Given the description of an element on the screen output the (x, y) to click on. 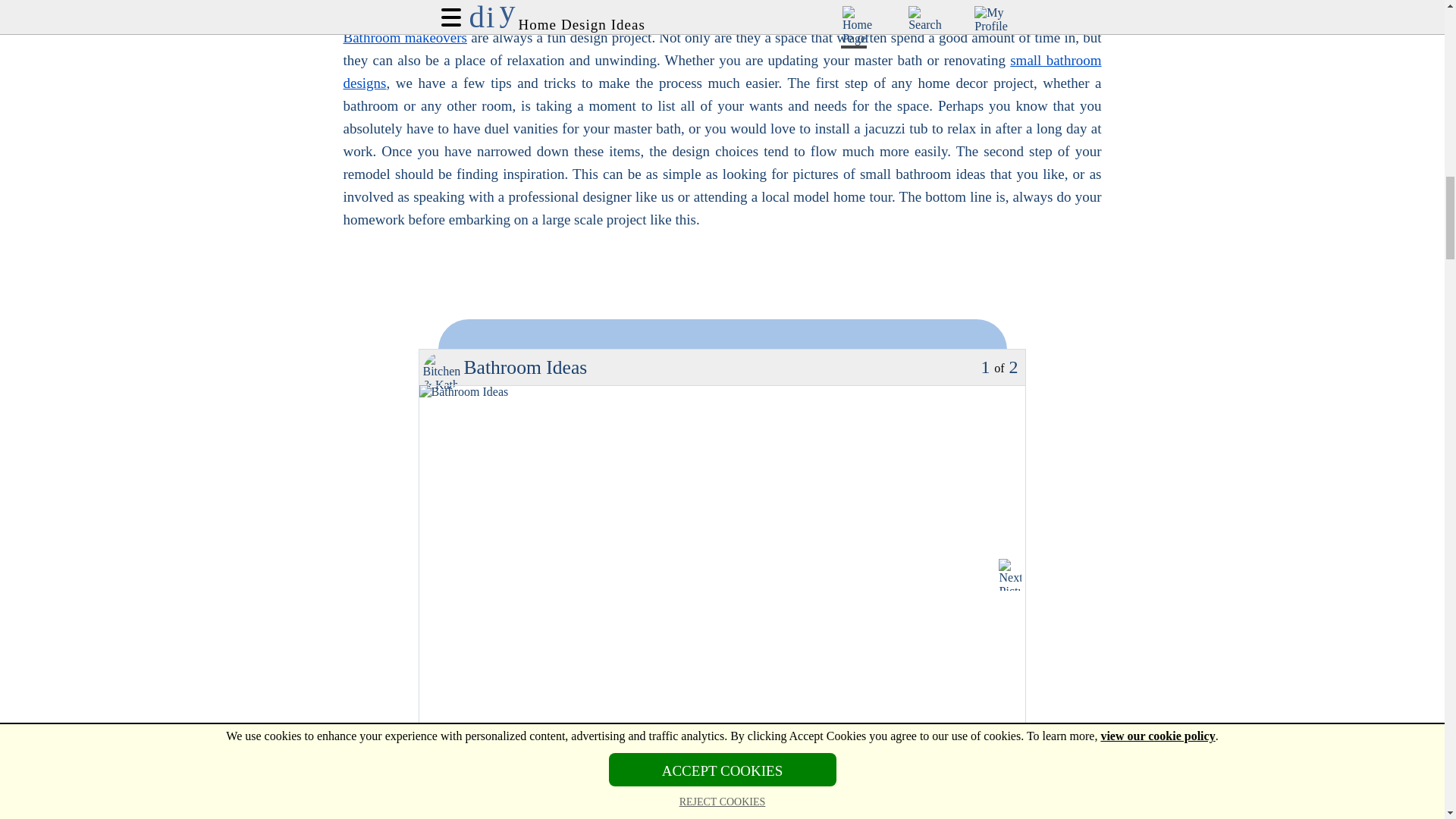
small bathroom designs (721, 71)
Bathroom makeovers (404, 37)
